Given the description of an element on the screen output the (x, y) to click on. 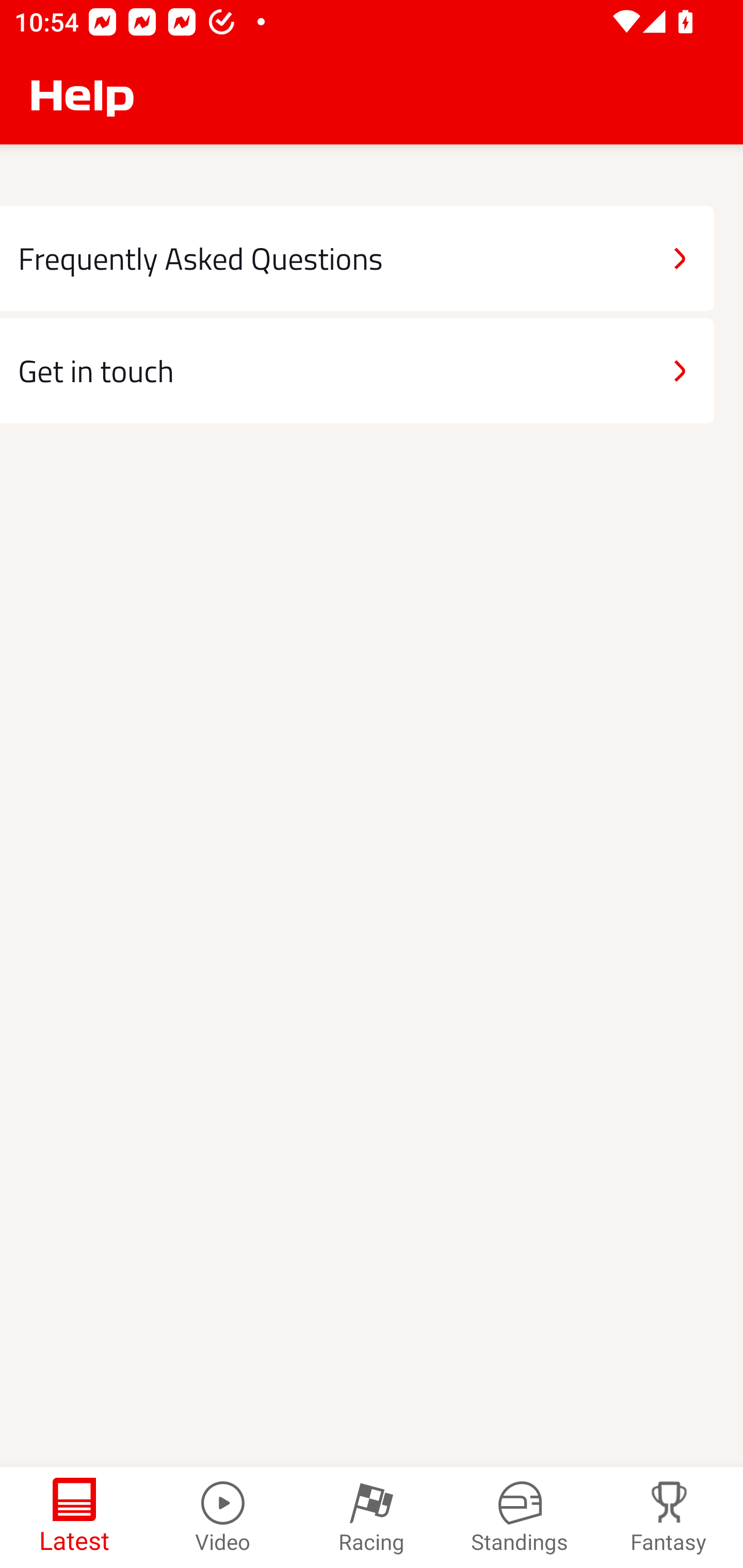
Frequently Asked Questions (357, 257)
Get in touch (357, 370)
Video (222, 1517)
Racing (371, 1517)
Standings (519, 1517)
Fantasy (668, 1517)
